Given the description of an element on the screen output the (x, y) to click on. 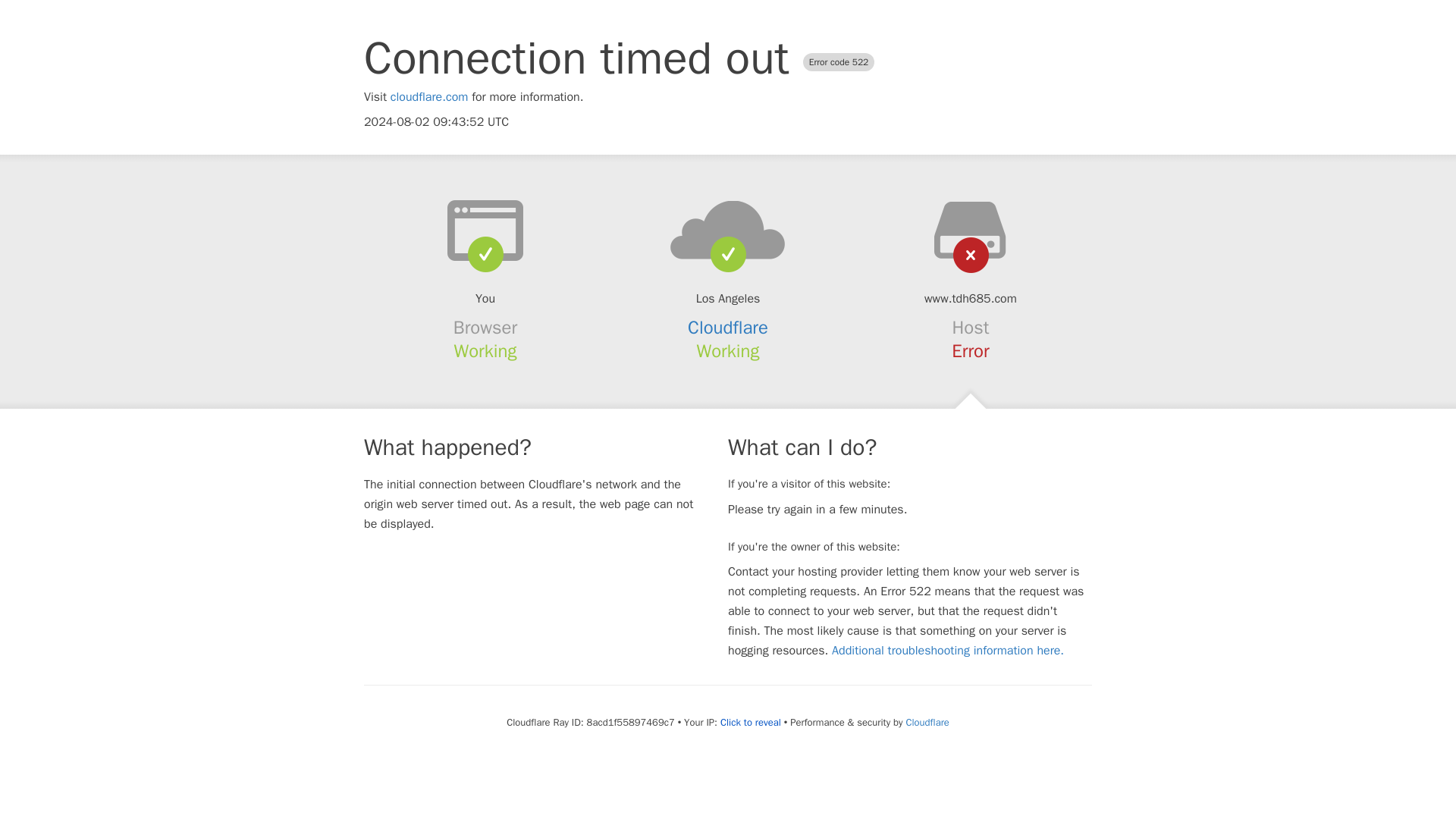
Cloudflare (927, 721)
Cloudflare (727, 327)
Click to reveal (750, 722)
cloudflare.com (429, 96)
Additional troubleshooting information here. (947, 650)
